Given the description of an element on the screen output the (x, y) to click on. 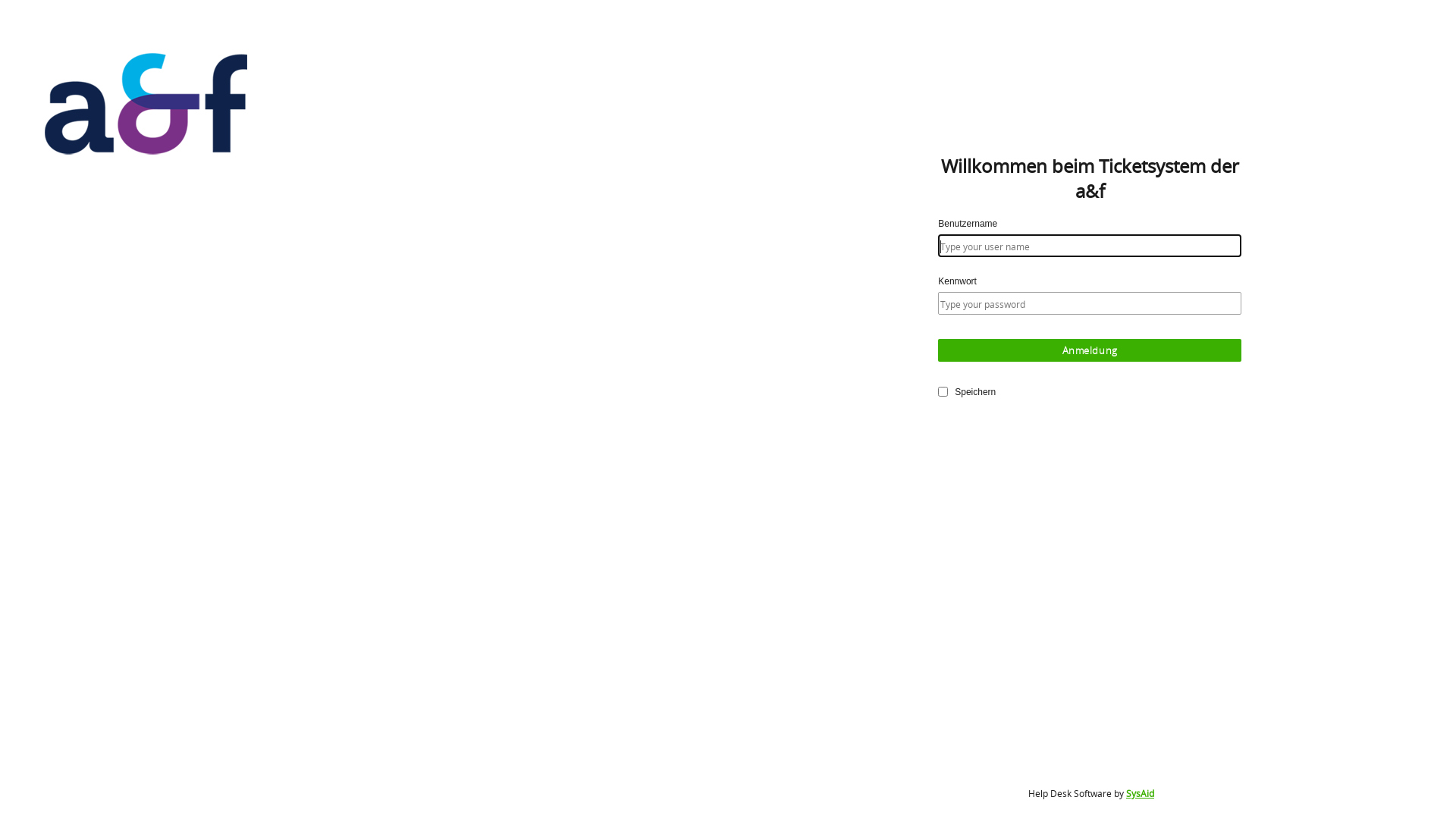
Anmeldung Element type: text (1089, 349)
on Element type: text (942, 391)
SysAid Element type: text (1140, 793)
